Given the description of an element on the screen output the (x, y) to click on. 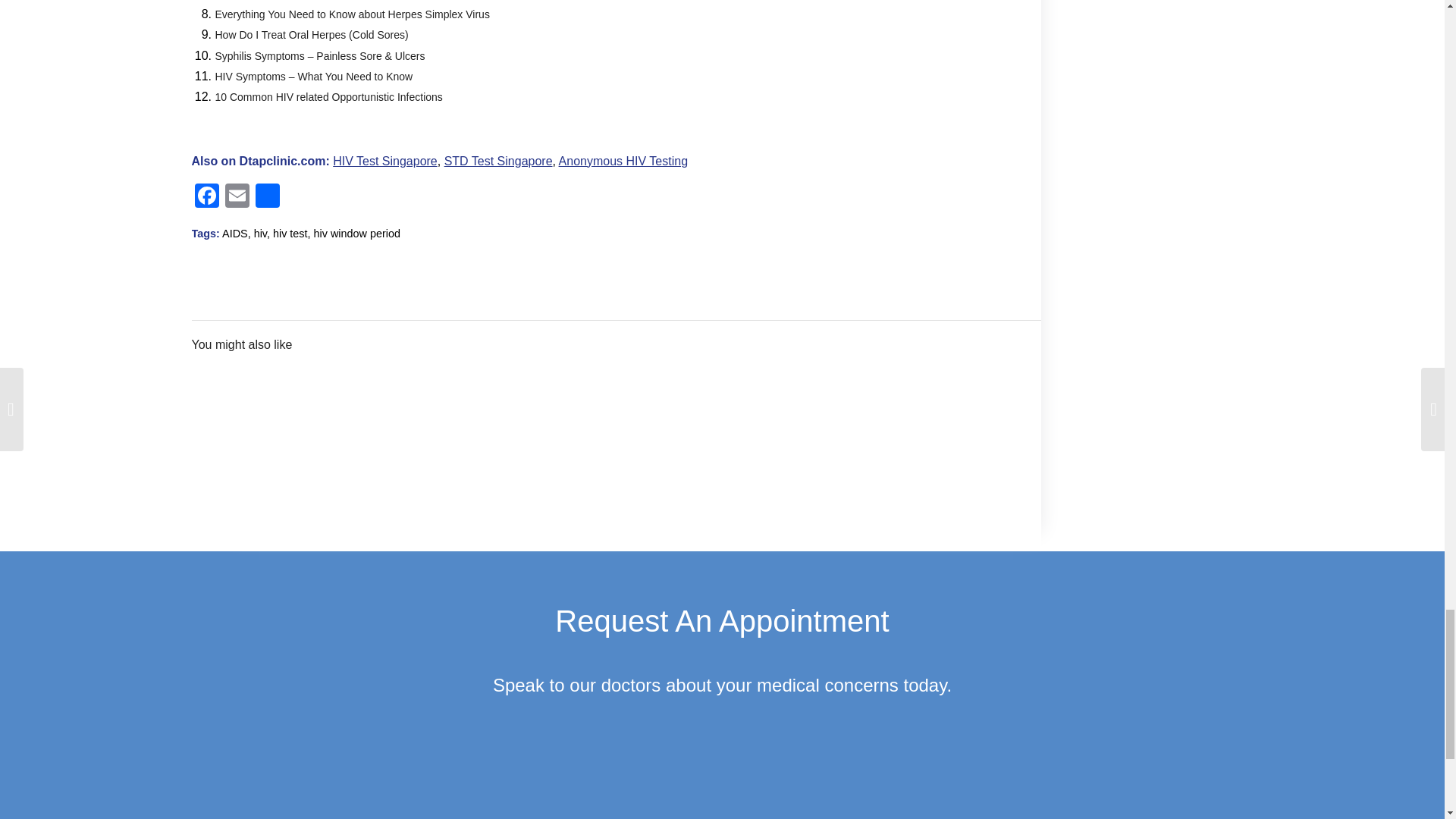
Email (236, 197)
Facebook (205, 197)
Rectal Douching and Associated Infection Risks (341, 416)
